Given the description of an element on the screen output the (x, y) to click on. 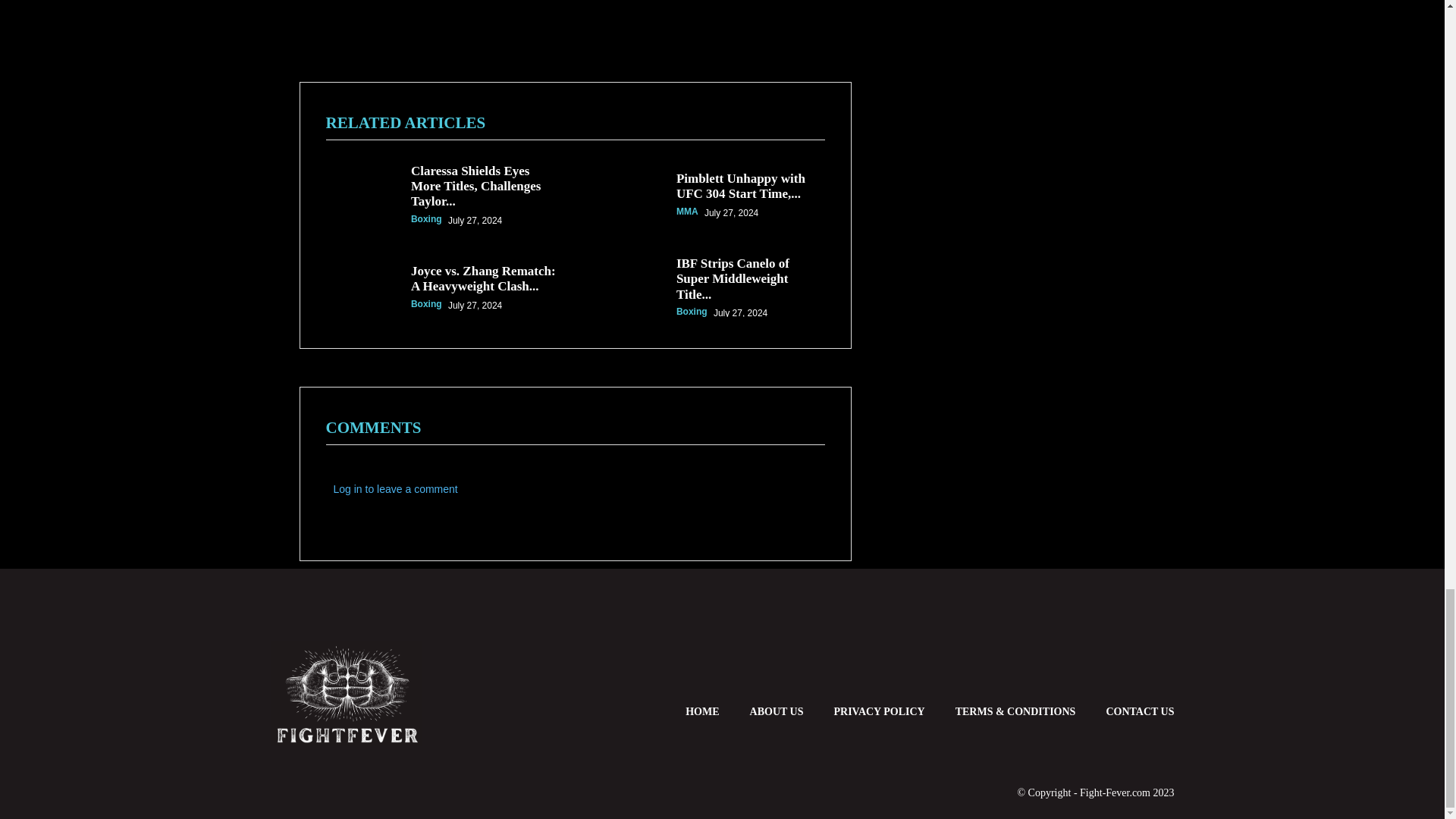
Joyce vs. Zhang Rematch: A Heavyweight Clash... (483, 278)
Pimblett Unhappy with UFC 304 Start Time,... (741, 185)
Claressa Shields Eyes More Titles, Challenges Taylor... (475, 186)
MMA (687, 211)
Joyce vs. Zhang Rematch: A Heavyweight Clash on the Horizon (361, 284)
Boxing (426, 303)
